Given the description of an element on the screen output the (x, y) to click on. 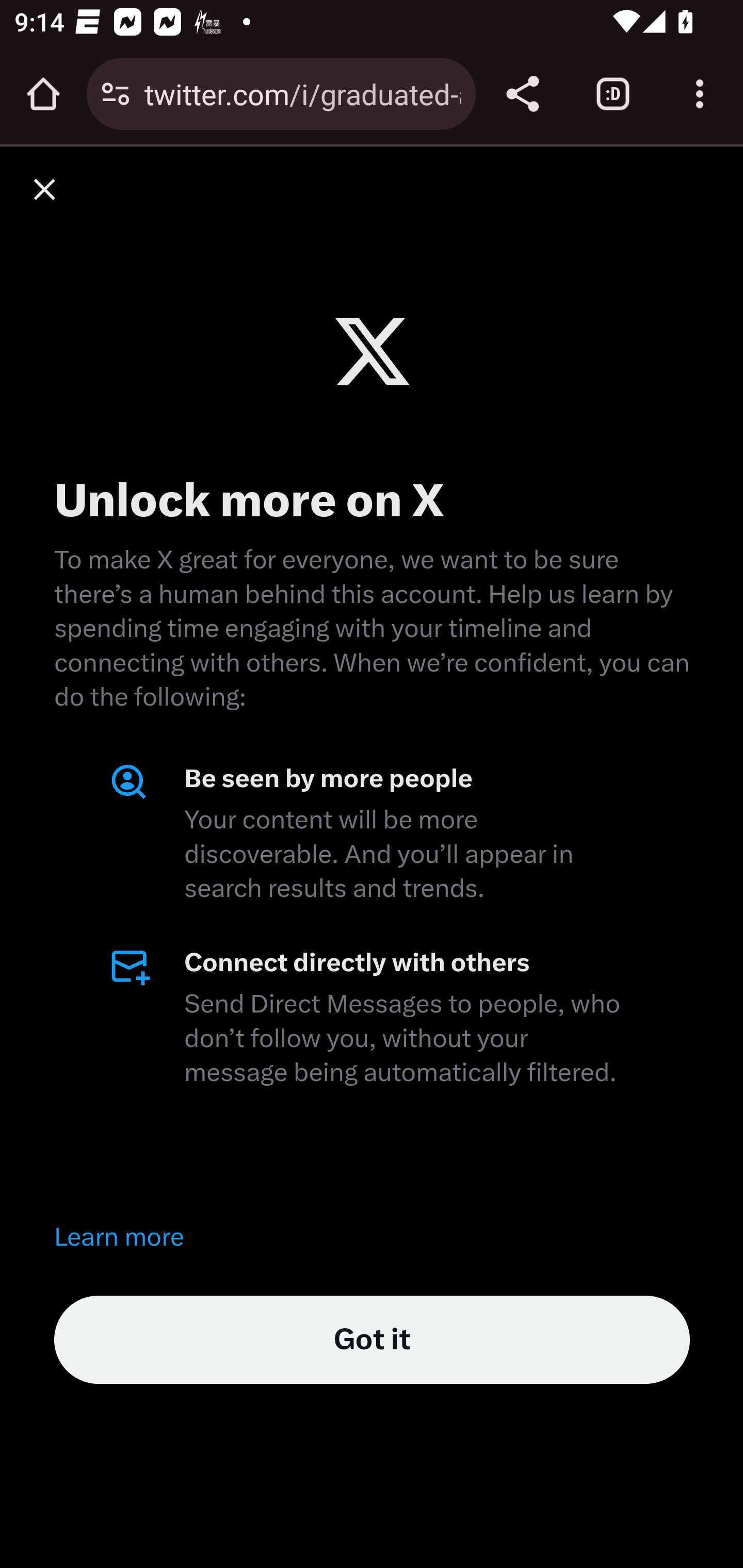
Open the home page (43, 93)
Connection is secure (115, 93)
Share (522, 93)
Switch or close tabs (612, 93)
Customize and control Google Chrome (699, 93)
